Given the description of an element on the screen output the (x, y) to click on. 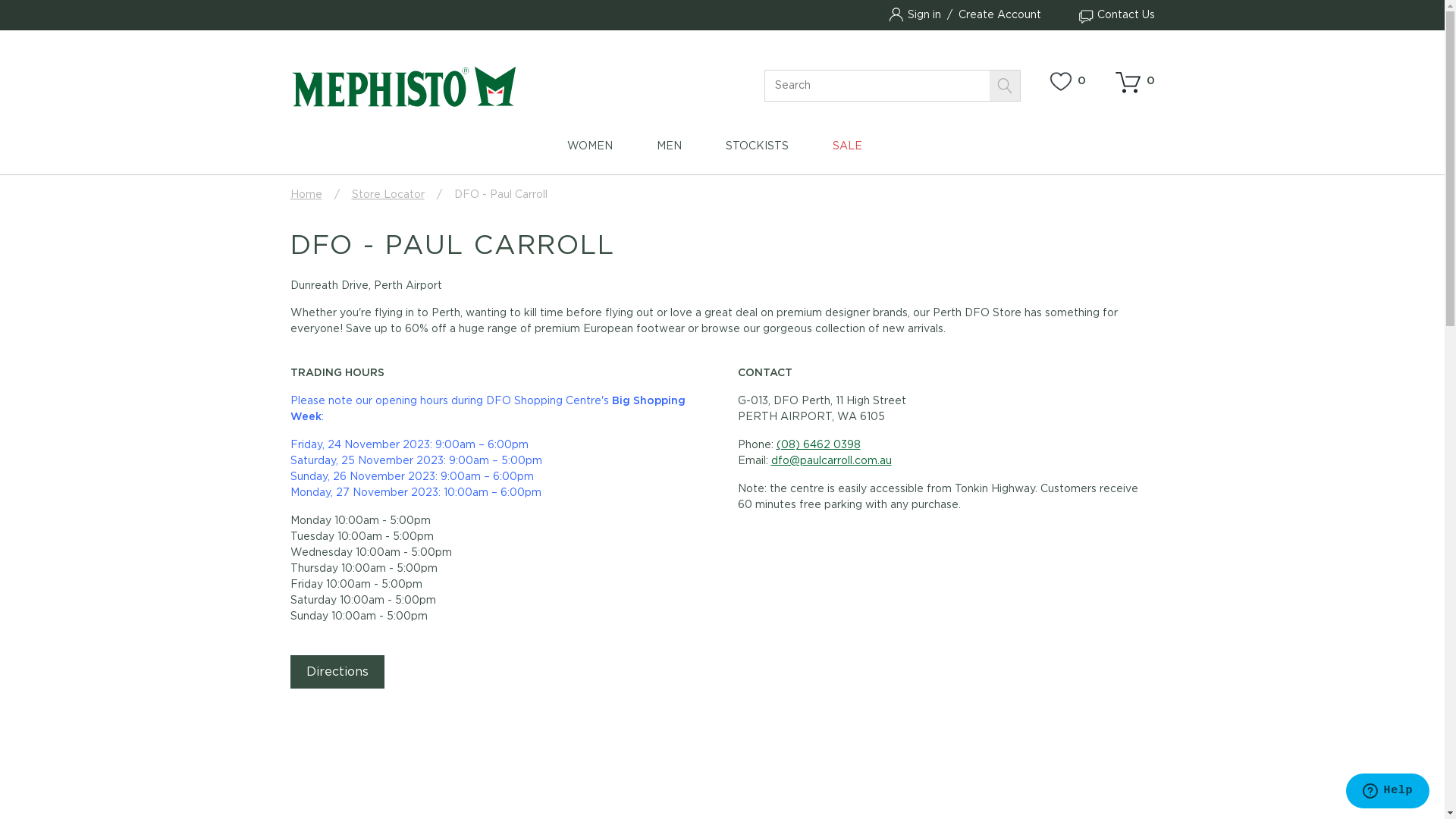
Contact Us Element type: text (1113, 15)
dfo@paulcarroll.com.au Element type: text (830, 460)
STOCKISTS Element type: text (756, 156)
Directions Element type: text (336, 671)
Store Locator Element type: text (387, 194)
(08) 6462 0398 Element type: text (818, 444)
0 Element type: text (1132, 81)
Create Account Element type: text (999, 15)
Opens a widget where you can chat to one of our agents Element type: hover (1387, 792)
Home Element type: text (305, 194)
0 Element type: text (1065, 81)
Sign in Element type: text (923, 15)
Search Element type: text (1003, 85)
